Given the description of an element on the screen output the (x, y) to click on. 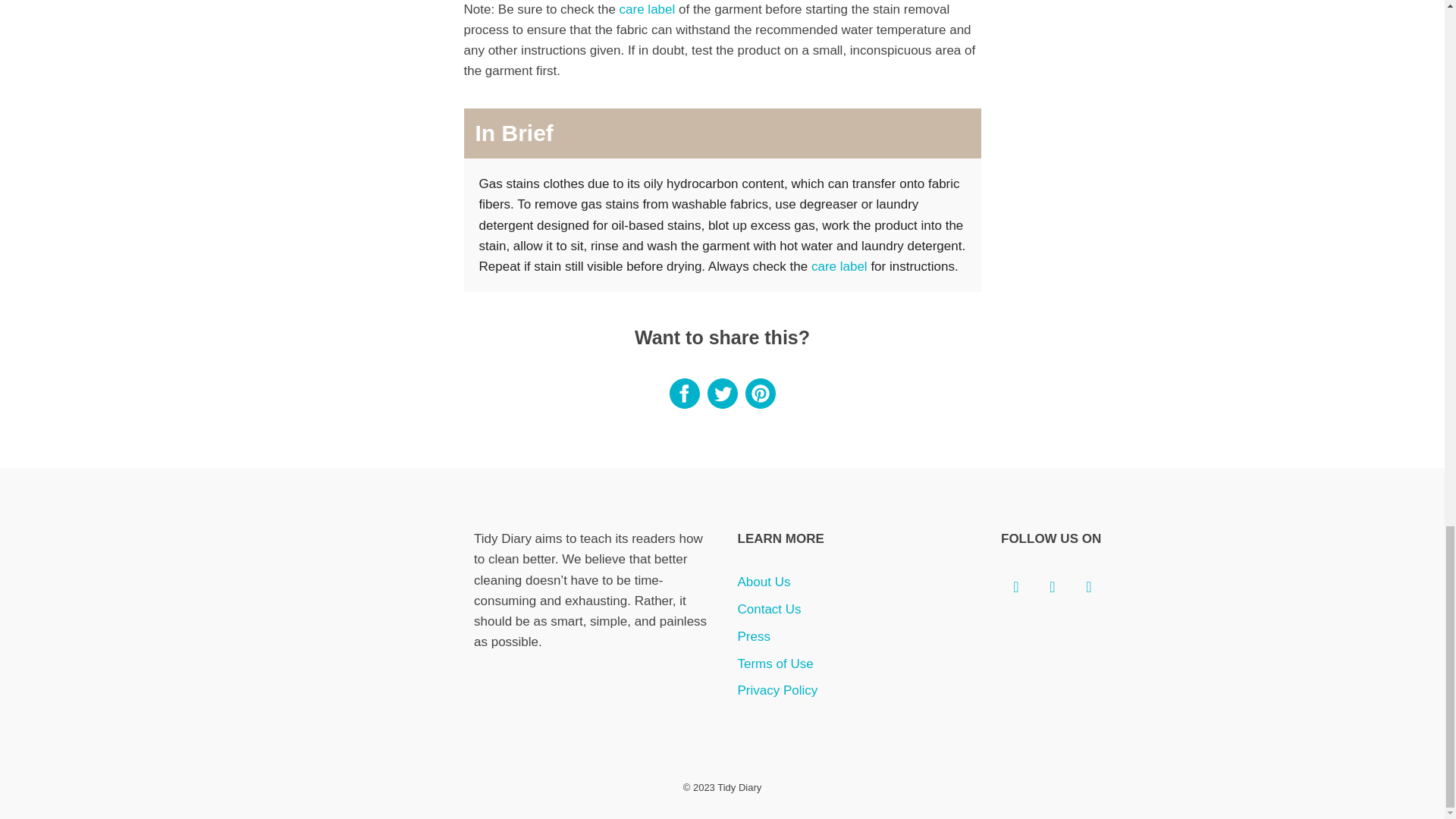
Twitter (1051, 586)
Facebook (1015, 586)
Press (753, 636)
Pin this post! (759, 404)
care label (838, 266)
care label (647, 9)
About Us (763, 581)
Privacy Policy (776, 690)
Scroll back to top (1406, 42)
Contact Us (768, 608)
